Given the description of an element on the screen output the (x, y) to click on. 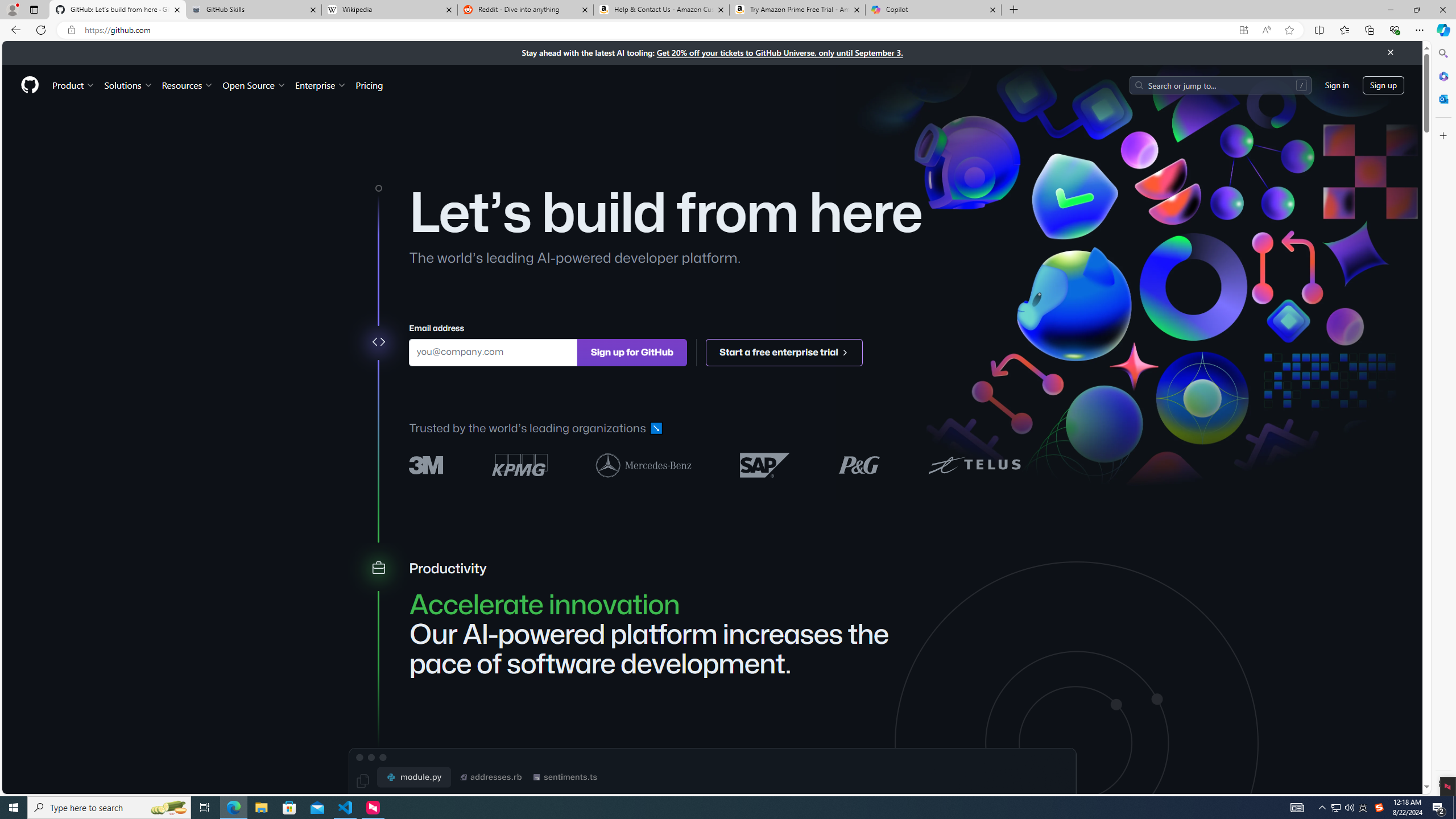
Try Amazon Prime Free Trial - Amazon Customer Service (797, 9)
Copilot (933, 9)
Product (74, 84)
Open Source (254, 84)
Back (13, 29)
Wikipedia (390, 9)
Email address (492, 352)
Resources (187, 84)
Settings and more (Alt+F) (1419, 29)
Pricing (368, 84)
Minimize (1390, 9)
Solutions (128, 84)
